Given the description of an element on the screen output the (x, y) to click on. 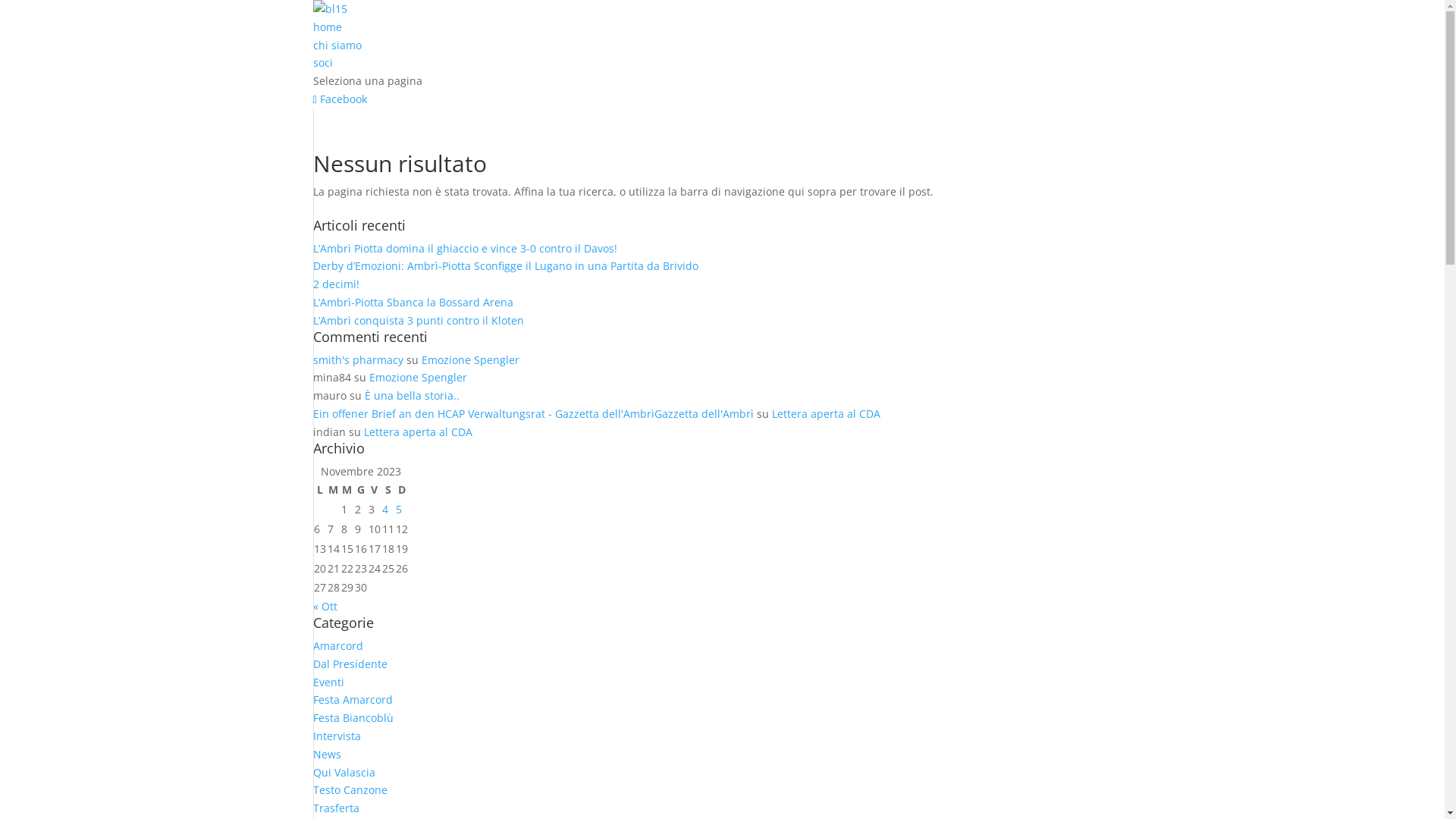
soci Element type: text (322, 62)
smith's pharmacy Element type: text (357, 359)
5 Element type: text (398, 509)
Dal Presidente Element type: text (349, 663)
Lettera aperta al CDA Element type: text (418, 431)
Amarcord Element type: text (337, 645)
Emozione Spengler Element type: text (470, 359)
4 Element type: text (385, 509)
News Element type: text (326, 753)
Lettera aperta al CDA Element type: text (825, 413)
Intervista Element type: text (336, 735)
Qui Valascia Element type: text (343, 771)
home Element type: text (326, 26)
chi siamo Element type: text (336, 44)
Testo Canzone Element type: text (349, 789)
Emozione Spengler Element type: text (417, 377)
Eventi Element type: text (327, 681)
Festa Amarcord Element type: text (352, 699)
Facebook Element type: text (339, 98)
Trasferta Element type: text (335, 807)
2 decimi! Element type: text (335, 283)
